Given the description of an element on the screen output the (x, y) to click on. 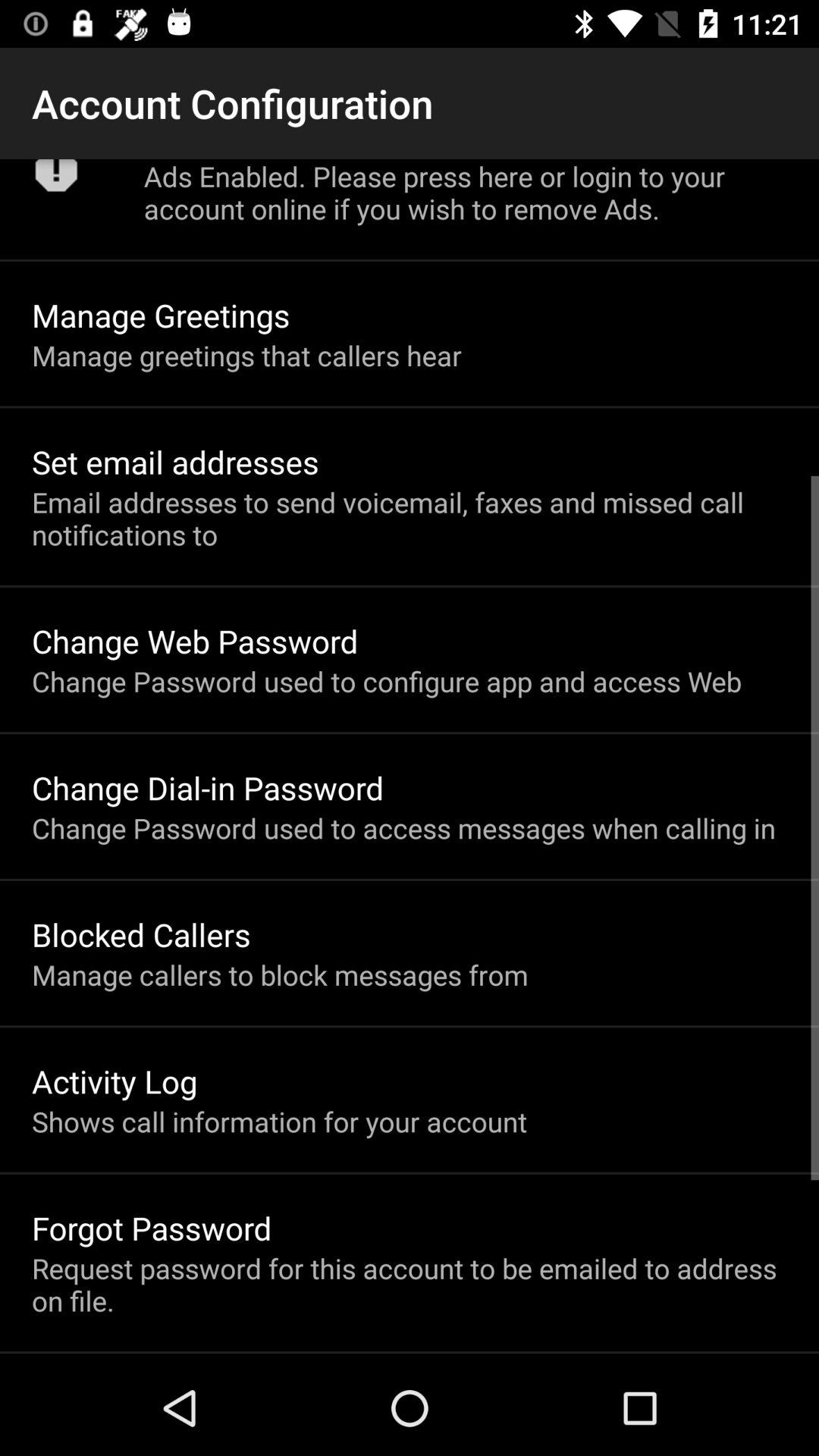
tap icon below the shows call information item (151, 1227)
